Given the description of an element on the screen output the (x, y) to click on. 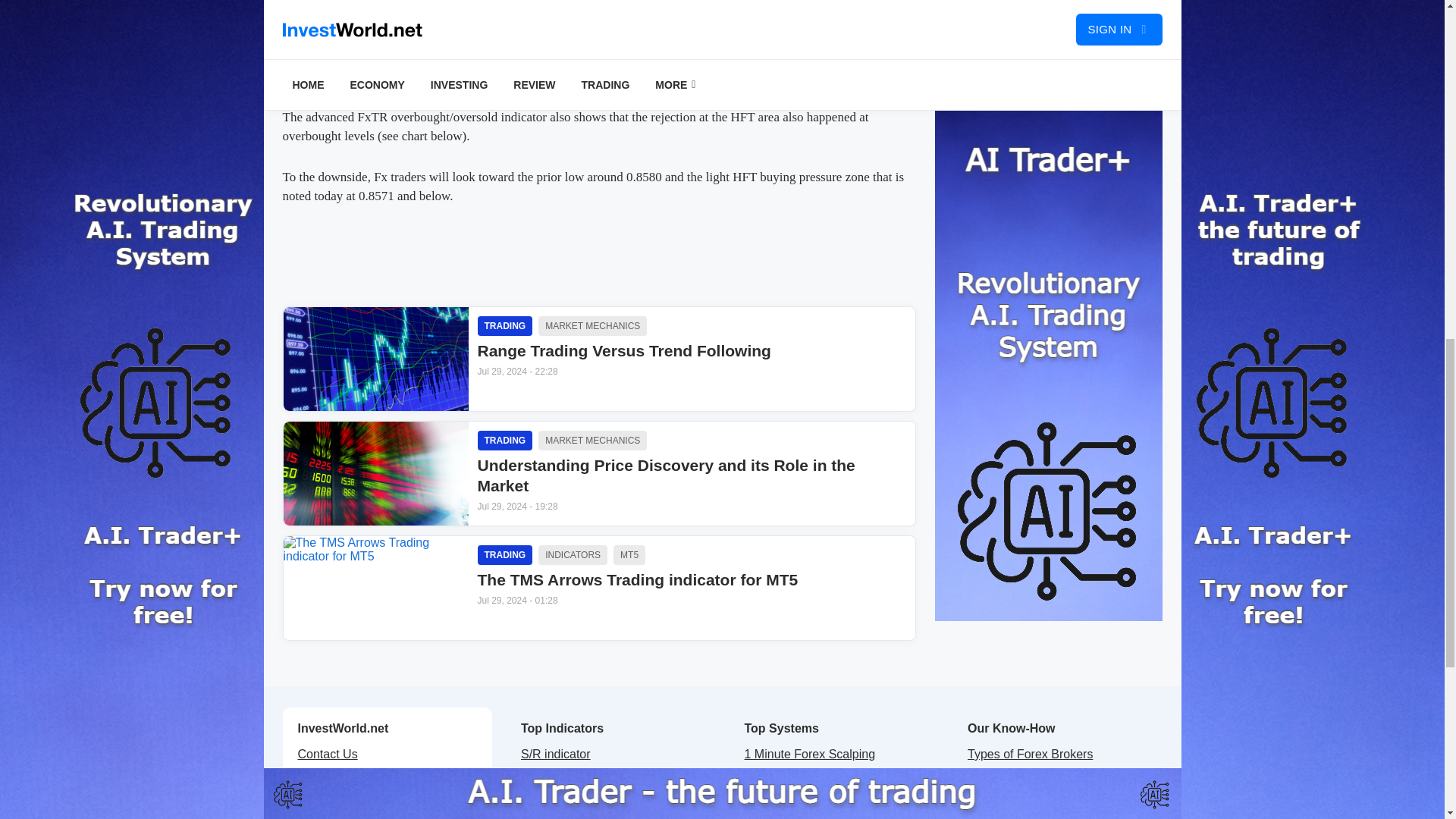
TRADING (504, 325)
MARKET MECHANICS (592, 325)
MARKET MECHANICS (592, 440)
TRADING (504, 440)
MT5 (691, 392)
TRADING (628, 555)
INDICATORS (504, 555)
